Given the description of an element on the screen output the (x, y) to click on. 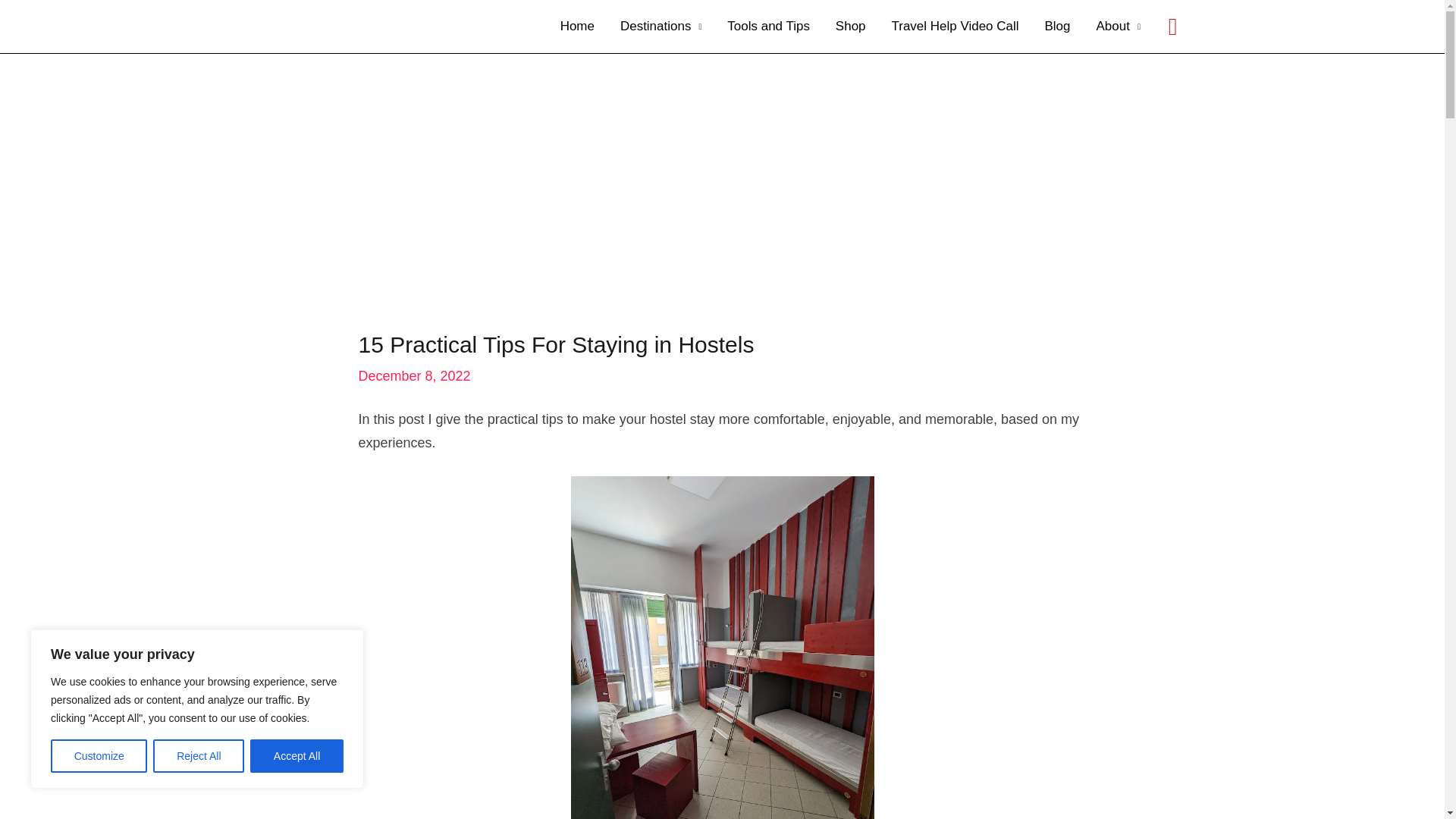
Reject All (198, 756)
Customize (98, 756)
Travel Help Video Call (955, 26)
Shop (850, 26)
Tools and Tips (768, 26)
Blog (1057, 26)
Accept All (296, 756)
About (1118, 26)
Destinations (660, 26)
Home (577, 26)
